Given the description of an element on the screen output the (x, y) to click on. 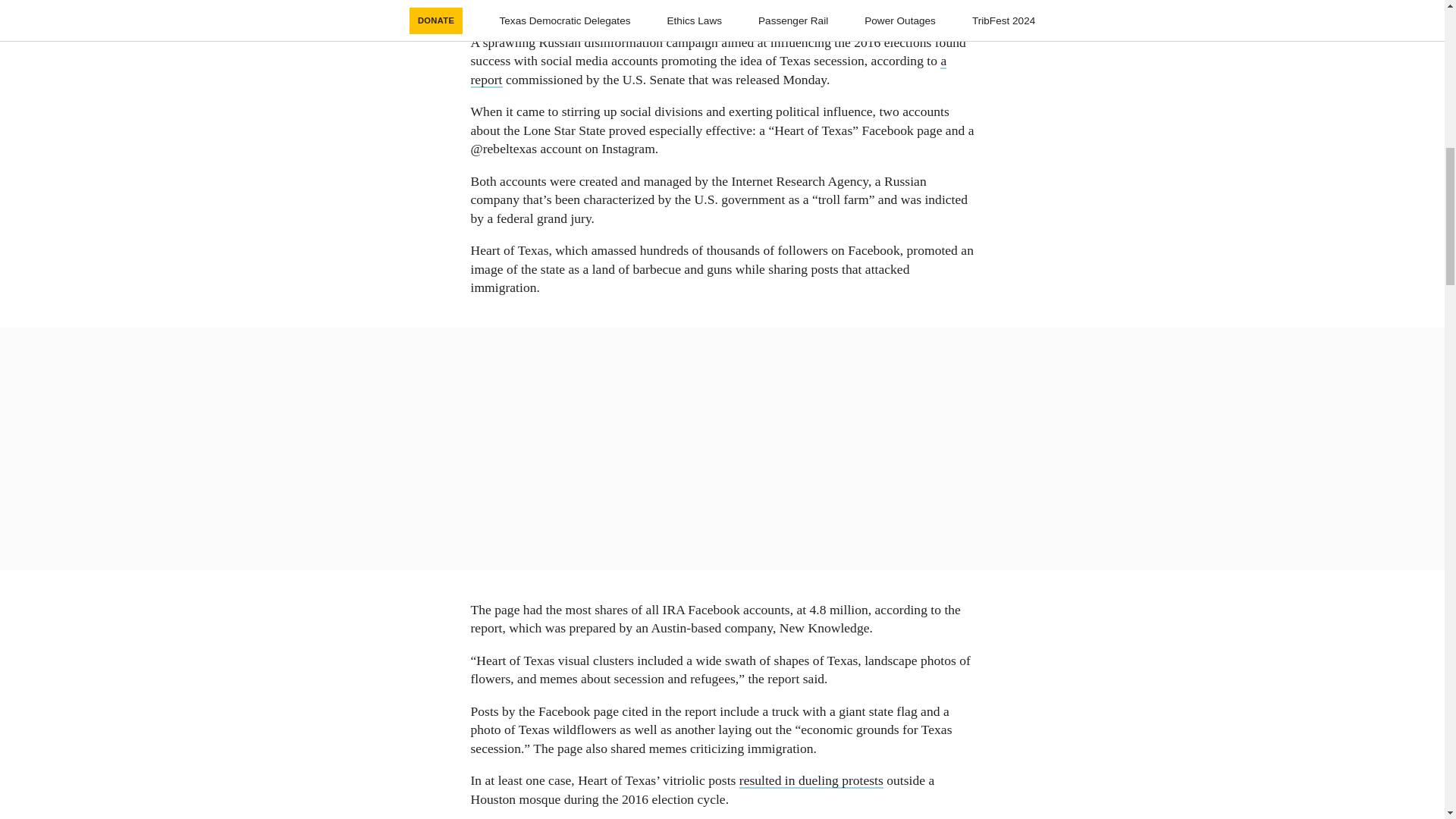
resulted in dueling protests (811, 780)
a report (708, 70)
